Given the description of an element on the screen output the (x, y) to click on. 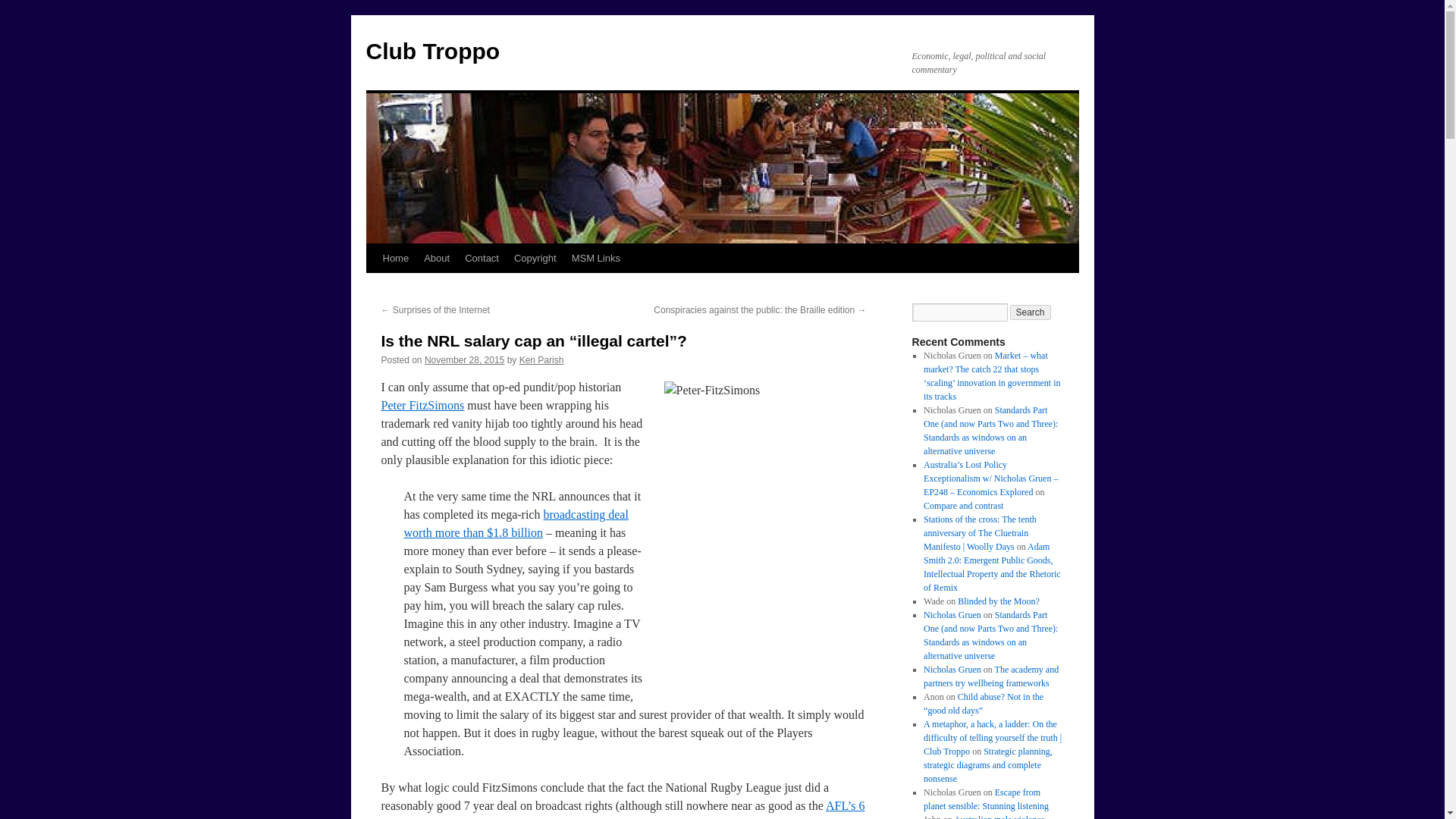
About (436, 258)
Ken Parish (541, 359)
View all posts by Ken Parish (541, 359)
Search (1030, 312)
Skip to content (372, 286)
Club Troppo (432, 50)
November 28, 2015 (464, 359)
Skip to content (372, 286)
Peter FitzSimons (422, 404)
Copyright (535, 258)
Contact (481, 258)
Home (395, 258)
Club Troppo (432, 50)
4:25 pm (464, 359)
MSM Links (595, 258)
